Given the description of an element on the screen output the (x, y) to click on. 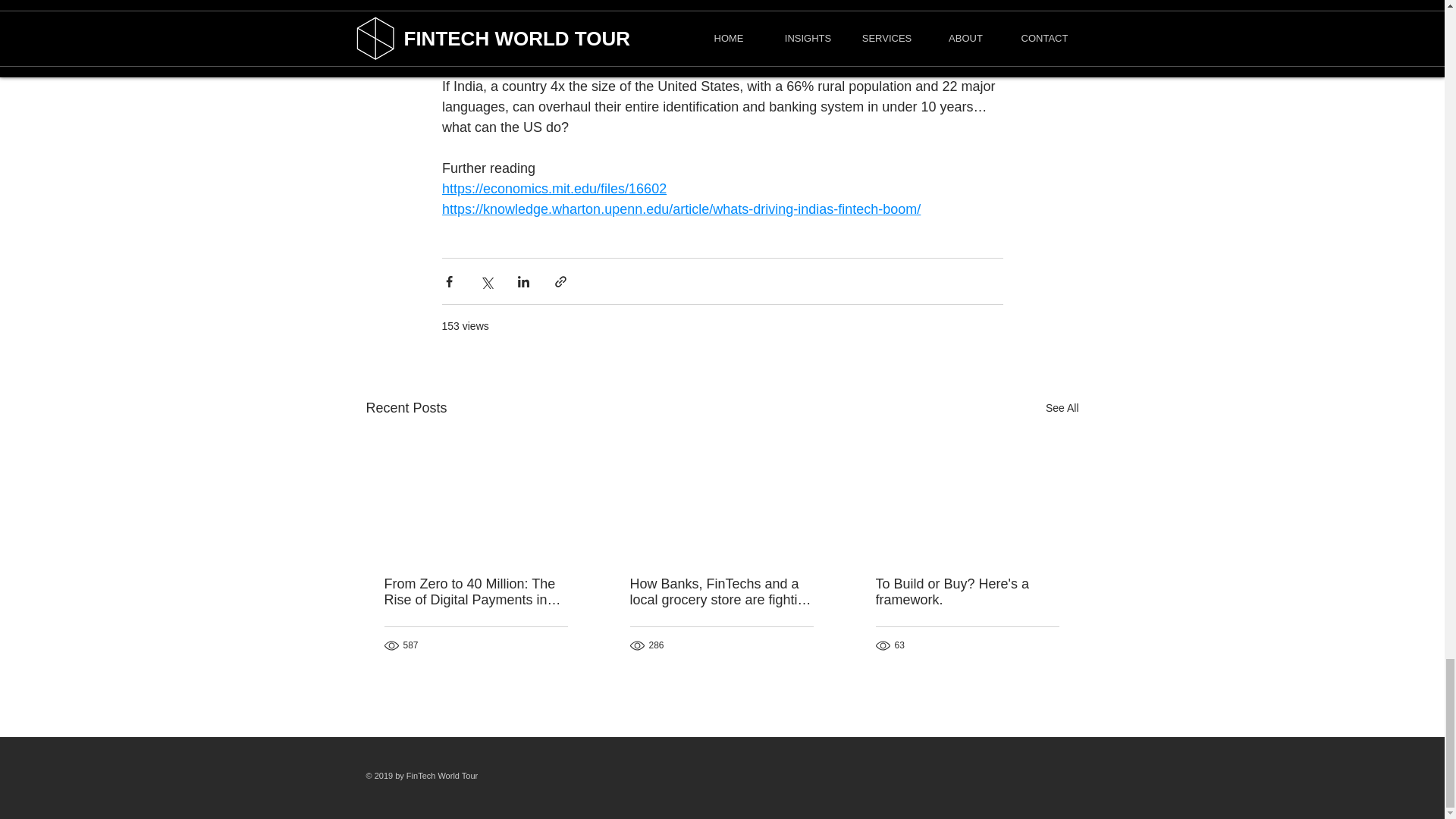
To Build or Buy? Here's a framework. (966, 592)
See All (1061, 408)
